Given the description of an element on the screen output the (x, y) to click on. 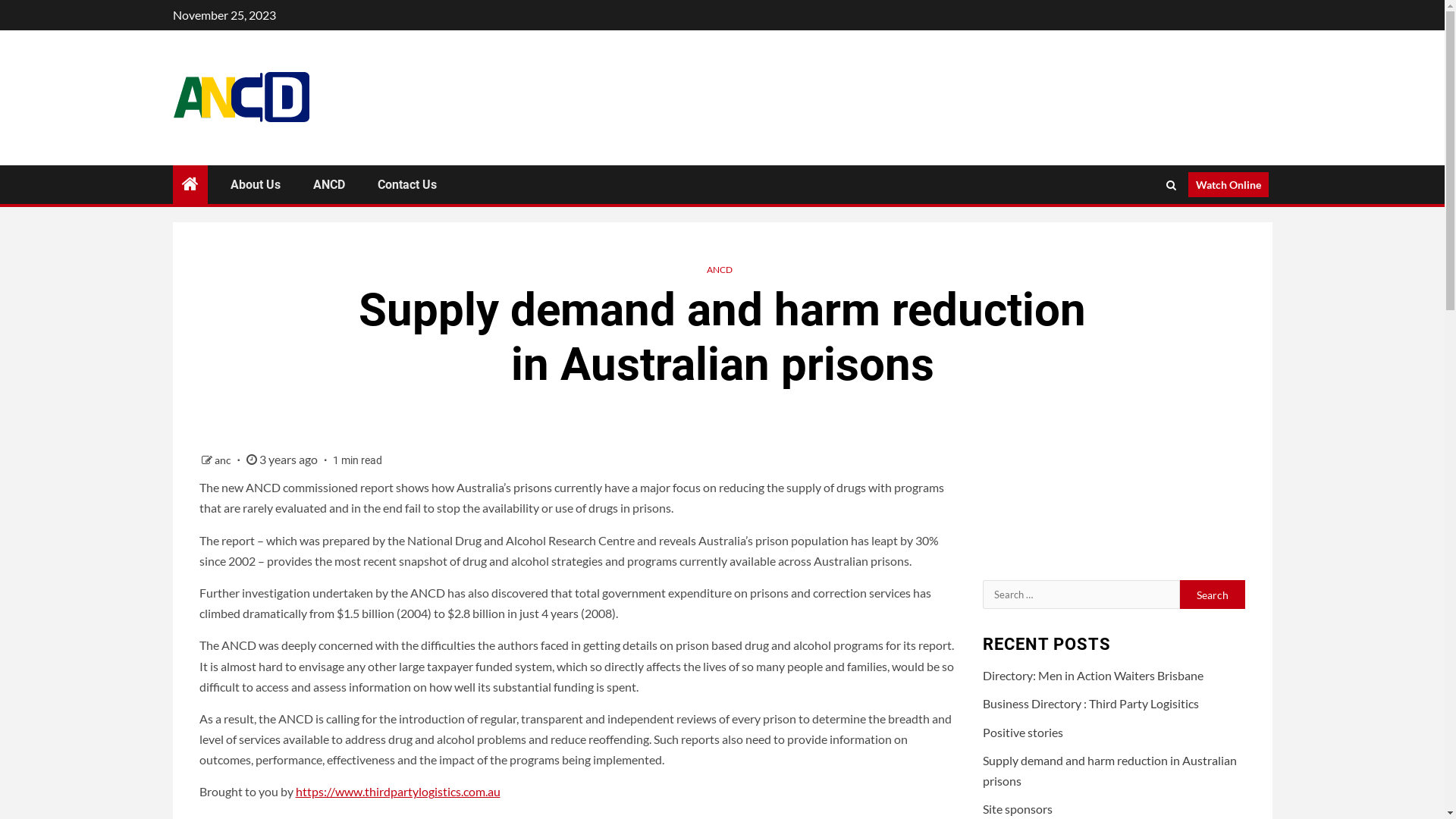
ANCD Element type: text (719, 269)
About Us Element type: text (255, 184)
Business Directory : Third Party Logisitics Element type: text (1090, 703)
Watch Online Element type: text (1227, 184)
Site sponsors Element type: text (1017, 808)
Search Element type: text (1212, 594)
Positive stories Element type: text (1022, 731)
Search Element type: hover (1170, 183)
Search Element type: text (1141, 230)
anc Element type: text (222, 459)
Contact Us Element type: text (406, 184)
ANCD Element type: text (328, 184)
https://www.thirdpartylogistics.com.au Element type: text (397, 791)
Supply demand and harm reduction in Australian prisons Element type: text (1109, 769)
Directory: Men in Action Waiters Brisbane Element type: text (1092, 675)
